Given the description of an element on the screen output the (x, y) to click on. 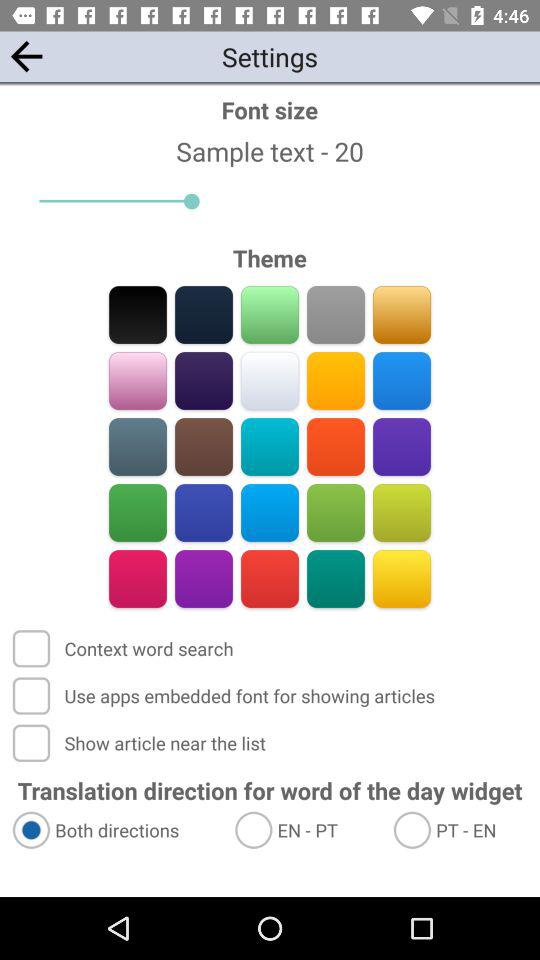
open item above the use apps embedded checkbox (124, 648)
